Given the description of an element on the screen output the (x, y) to click on. 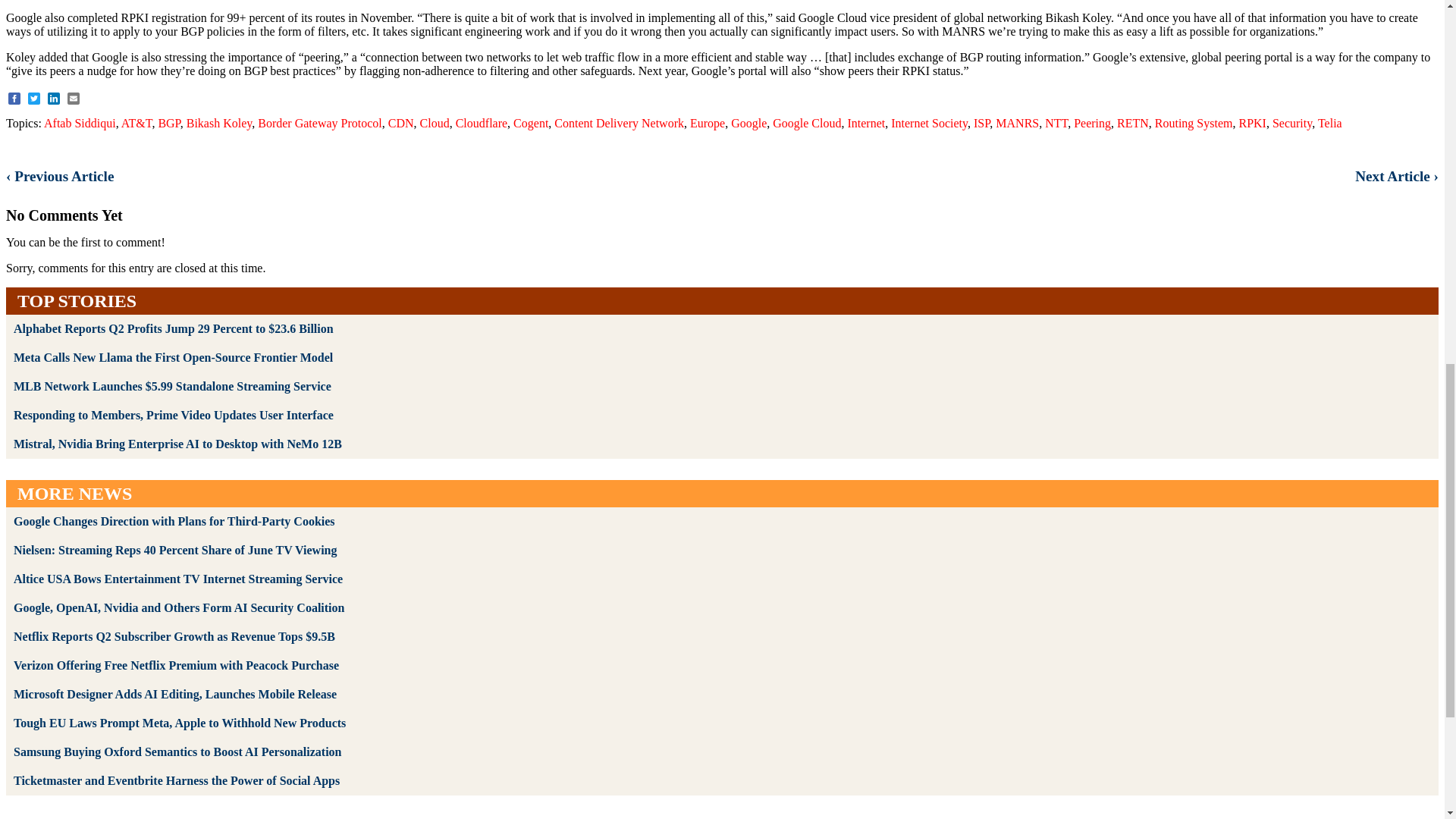
Meta Calls New Llama the First Open-Source Frontier Model (173, 357)
RETN (1132, 123)
Internet (866, 123)
Content Delivery Network (619, 123)
Europe (707, 123)
Telia (1329, 123)
Aftab Siddiqui (79, 123)
Cogent (530, 123)
BGP (168, 123)
Border Gateway Protocol (319, 123)
Peering (1092, 123)
Routing System (1193, 123)
Cloudflare (480, 123)
